Given the description of an element on the screen output the (x, y) to click on. 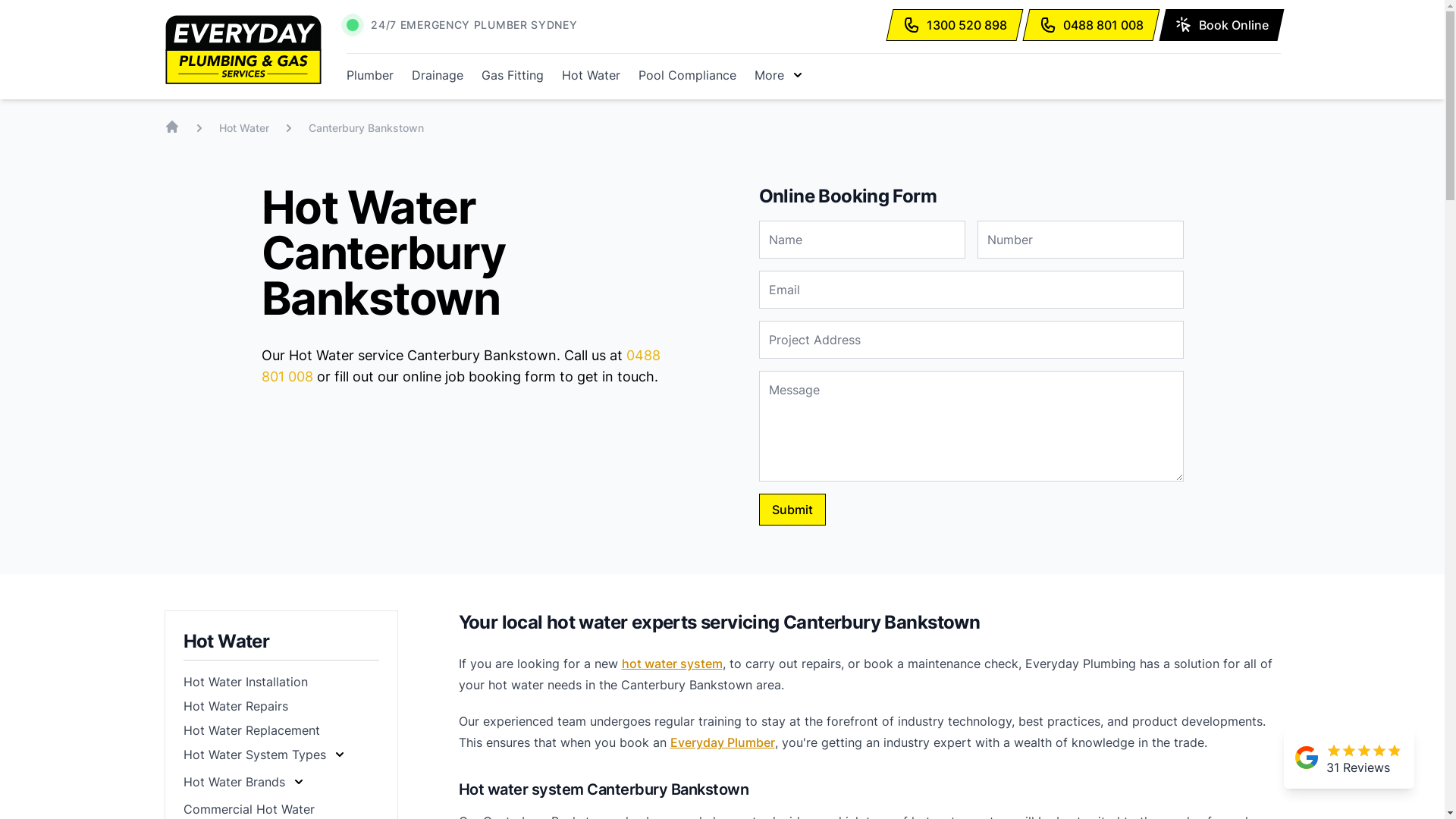
Pool Compliance Element type: text (687, 74)
Plumber Element type: text (369, 74)
0488 801 008 Element type: text (459, 365)
Gas Fitting Element type: text (512, 74)
Everyday Plumber Element type: text (722, 741)
Drainage Element type: text (437, 74)
0488 801 008 Element type: text (1087, 24)
Hot Water System Types Element type: text (265, 754)
Hot Water Element type: text (243, 126)
Hot Water Element type: text (590, 74)
Hot Water Repairs Element type: text (235, 705)
1300 520 898 Element type: text (950, 24)
Everyday Plumbing and Gas Home Page Element type: hover (170, 126)
Submit Element type: text (791, 509)
hot water system Element type: text (671, 663)
Book Online Element type: text (1217, 24)
31 Reviews Element type: text (1348, 757)
Hot Water Replacement Element type: text (251, 729)
4.8 out of 5 Element type: hover (1362, 749)
Hot Water Brands Element type: text (244, 781)
Canterbury Bankstown Element type: text (365, 126)
Everyday Plumbing Sydney Element type: hover (242, 49)
Hot Water Installation Element type: text (245, 681)
24/7 EMERGENCY PLUMBER SYDNEY Element type: text (473, 24)
Commercial Hot Water Element type: text (248, 808)
